Given the description of an element on the screen output the (x, y) to click on. 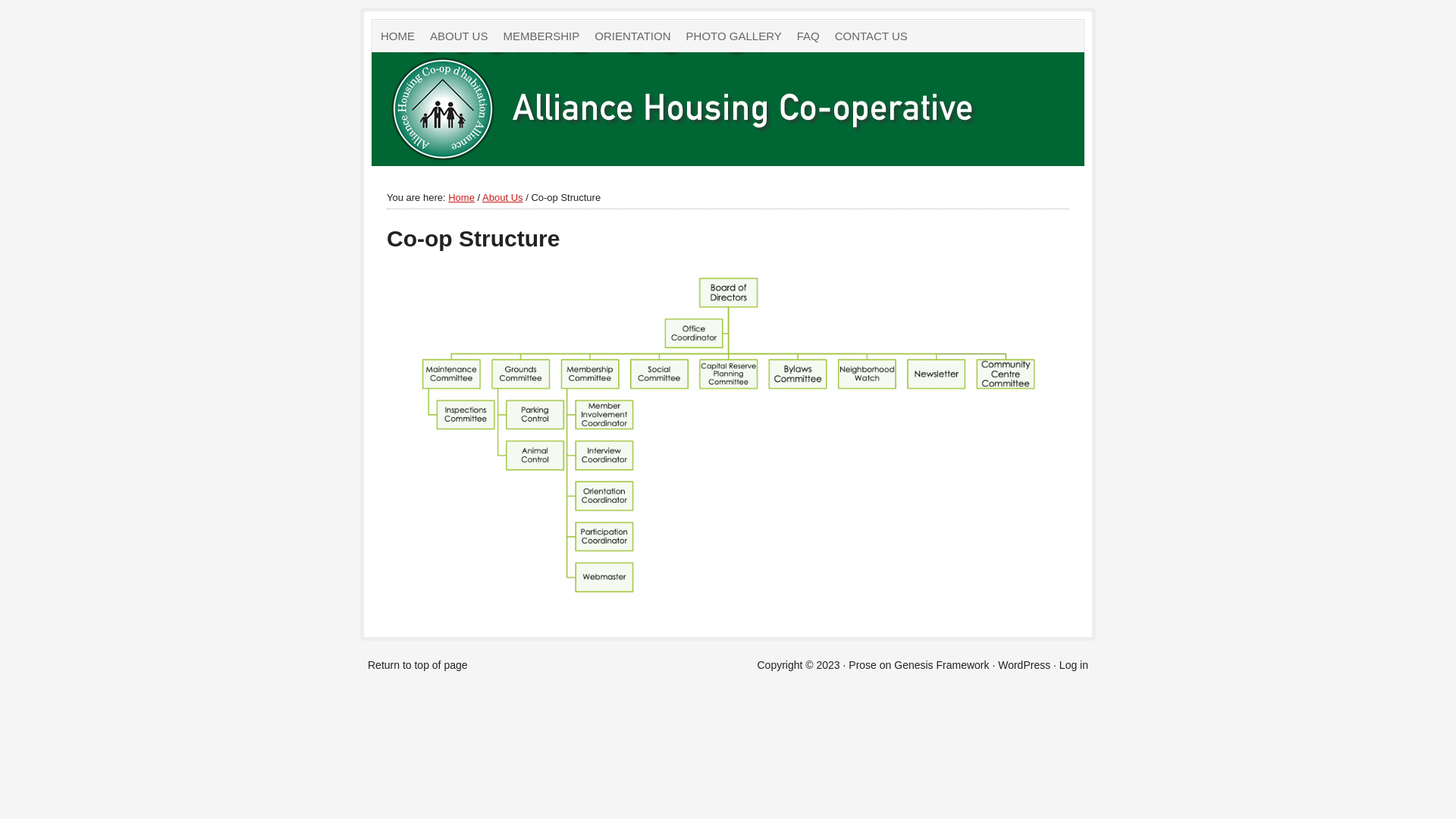
ABOUT US Element type: text (458, 35)
About Us Element type: text (502, 197)
Log in Element type: text (1073, 664)
CONTACT US Element type: text (871, 35)
Home Element type: text (461, 197)
HOME Element type: text (397, 35)
PHOTO GALLERY Element type: text (733, 35)
Prose Element type: text (862, 664)
WordPress Element type: text (1023, 664)
MEMBERSHIP Element type: text (540, 35)
Alliance Housing Co-operative Element type: text (541, 109)
Return to top of page Element type: text (417, 664)
Genesis Framework Element type: text (941, 664)
FAQ Element type: text (808, 35)
ORIENTATION Element type: text (631, 35)
